Given the description of an element on the screen output the (x, y) to click on. 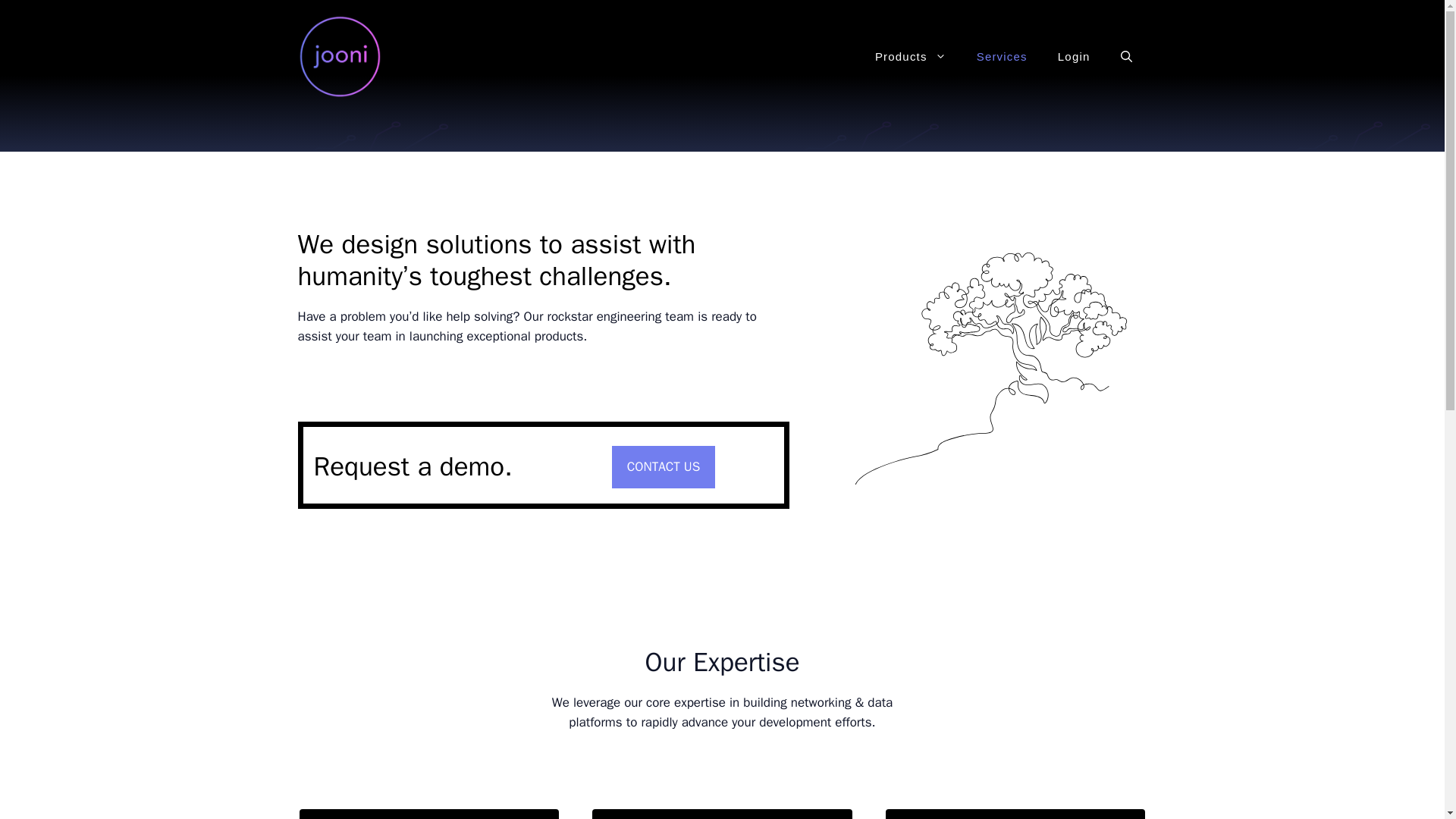
CONTACT US (662, 466)
Products (910, 56)
Services (1001, 56)
Login (1073, 56)
